Given the description of an element on the screen output the (x, y) to click on. 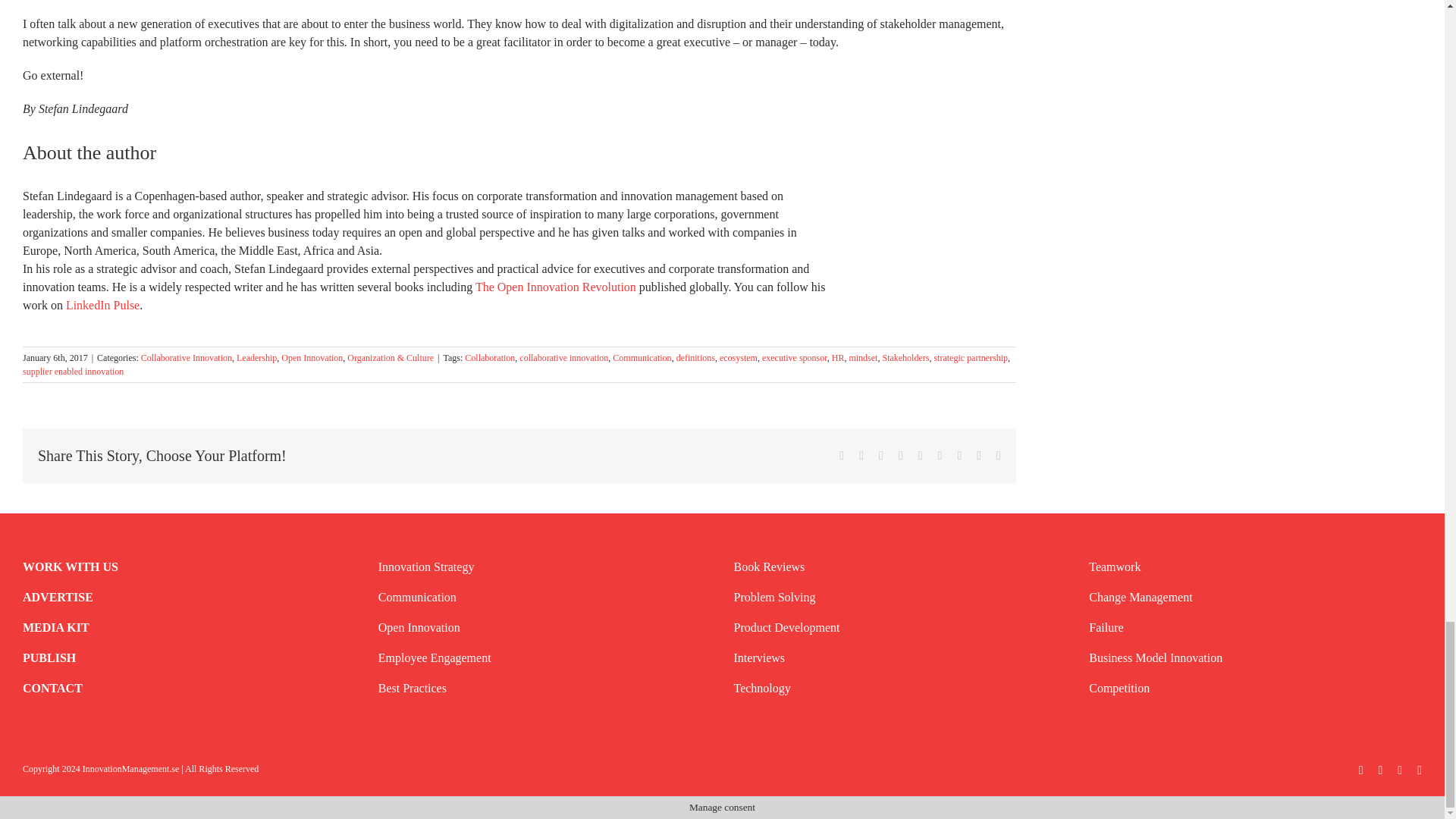
LinkedIn Pulse (102, 305)
The Open Innovation Revolution (556, 286)
Leadership (255, 357)
Collaborative Innovation (186, 357)
Open Innovation (311, 357)
